Given the description of an element on the screen output the (x, y) to click on. 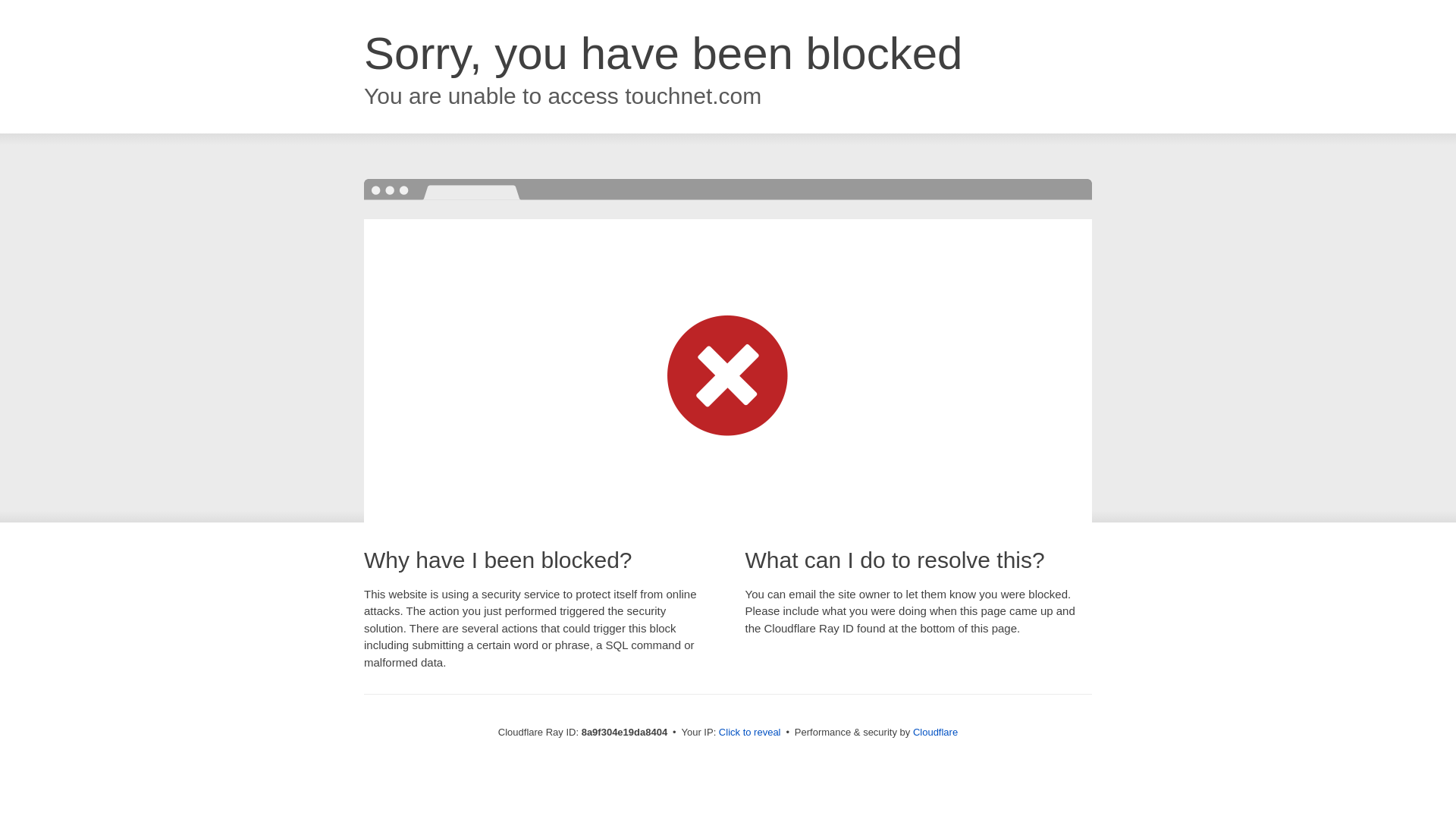
Click to reveal (749, 732)
Cloudflare (935, 731)
